Given the description of an element on the screen output the (x, y) to click on. 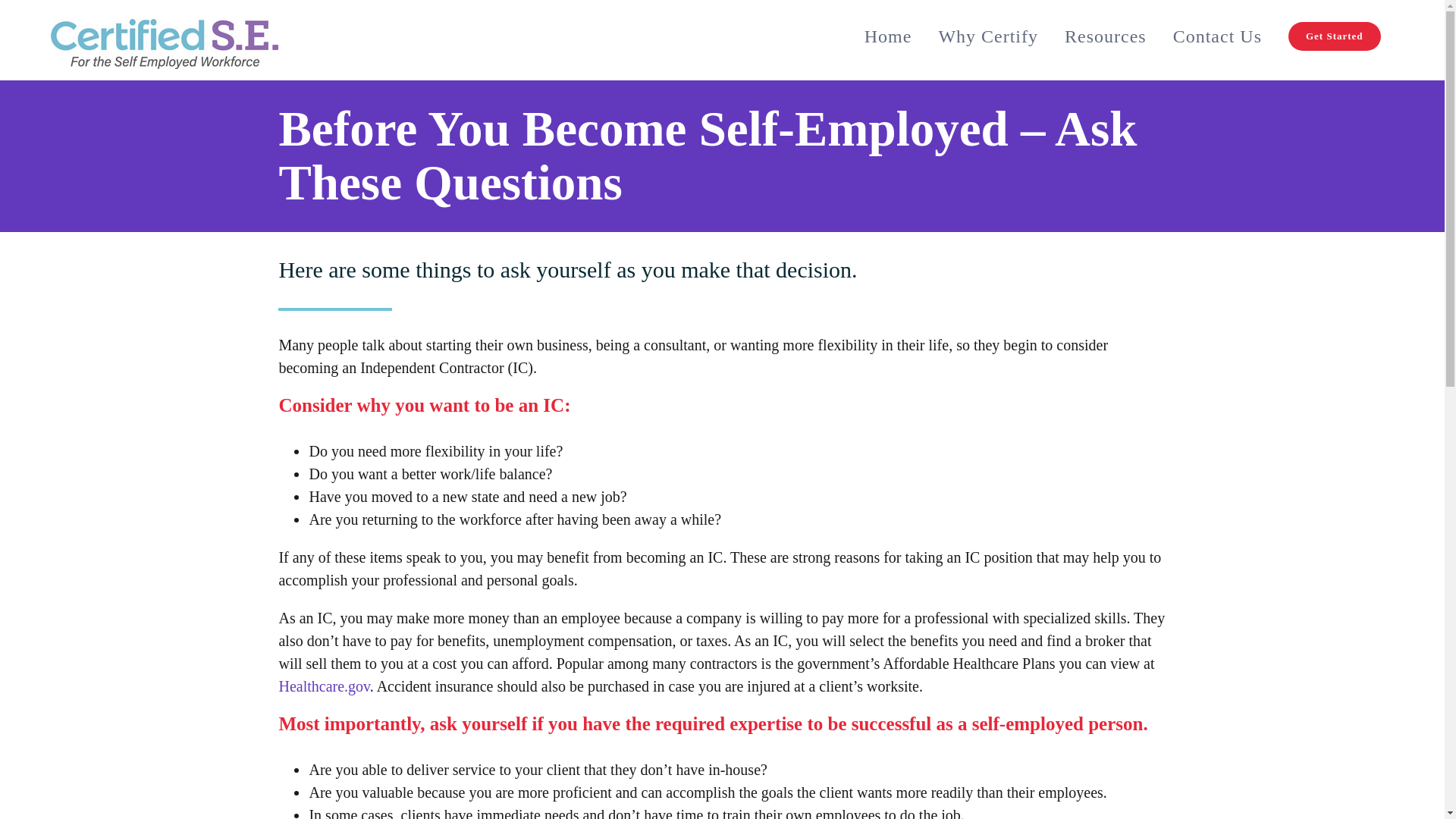
Resources (1105, 35)
Why Certify (987, 35)
Contact Us (1216, 35)
Get Started (1334, 35)
Healthcare.gov (323, 686)
Home (887, 35)
